Given the description of an element on the screen output the (x, y) to click on. 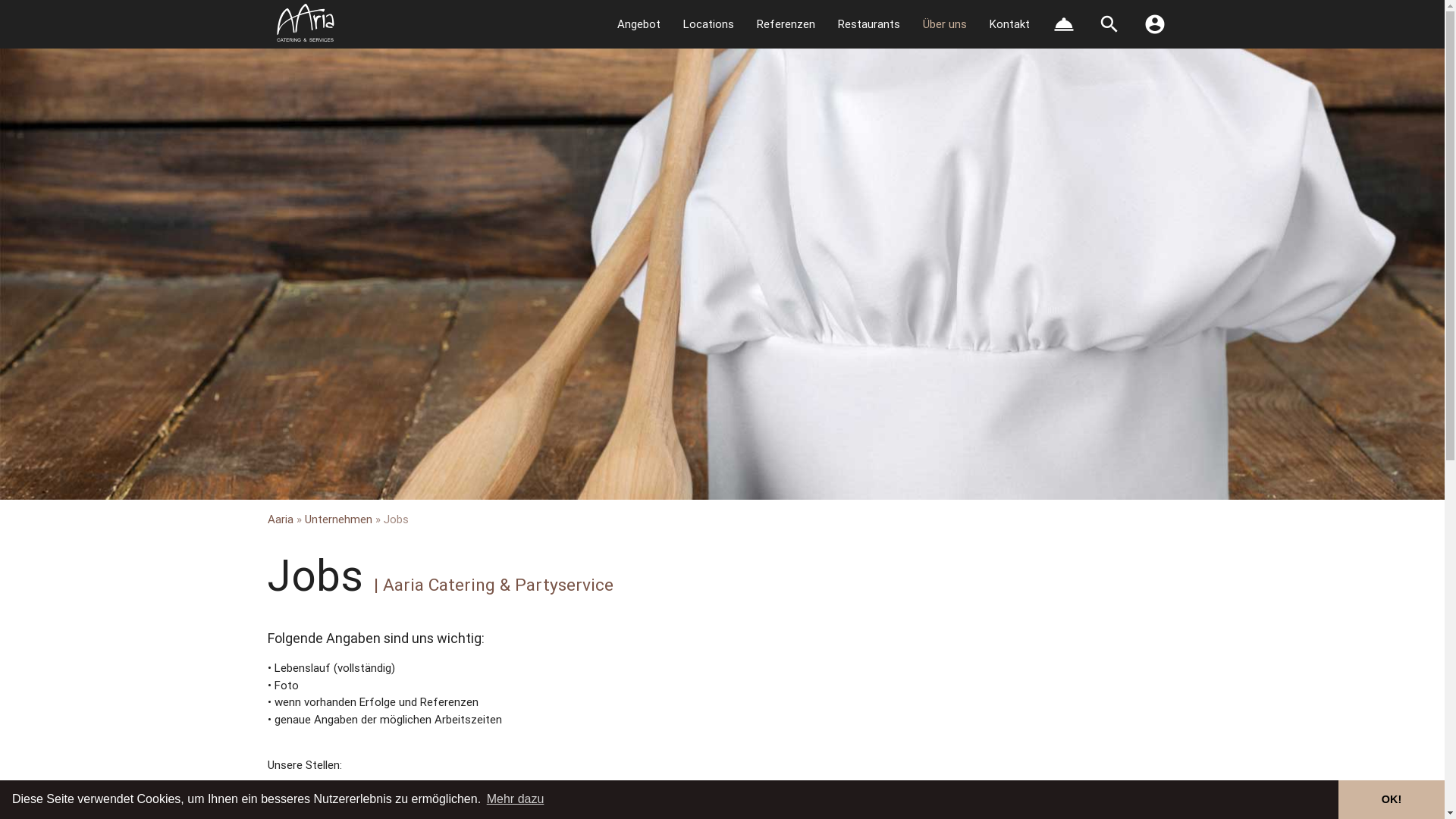
Aaria Element type: text (279, 518)
Angebot Element type: text (638, 24)
search Element type: text (1108, 24)
Kontakt Element type: text (1009, 24)
Restaurants Element type: text (868, 24)
Unternehmen Element type: text (338, 518)
Locations Element type: text (708, 24)
Mehr dazu Element type: text (515, 798)
Referenzen Element type: text (784, 24)
room_service Element type: text (1062, 24)
account_circle Element type: text (1153, 24)
